Given the description of an element on the screen output the (x, y) to click on. 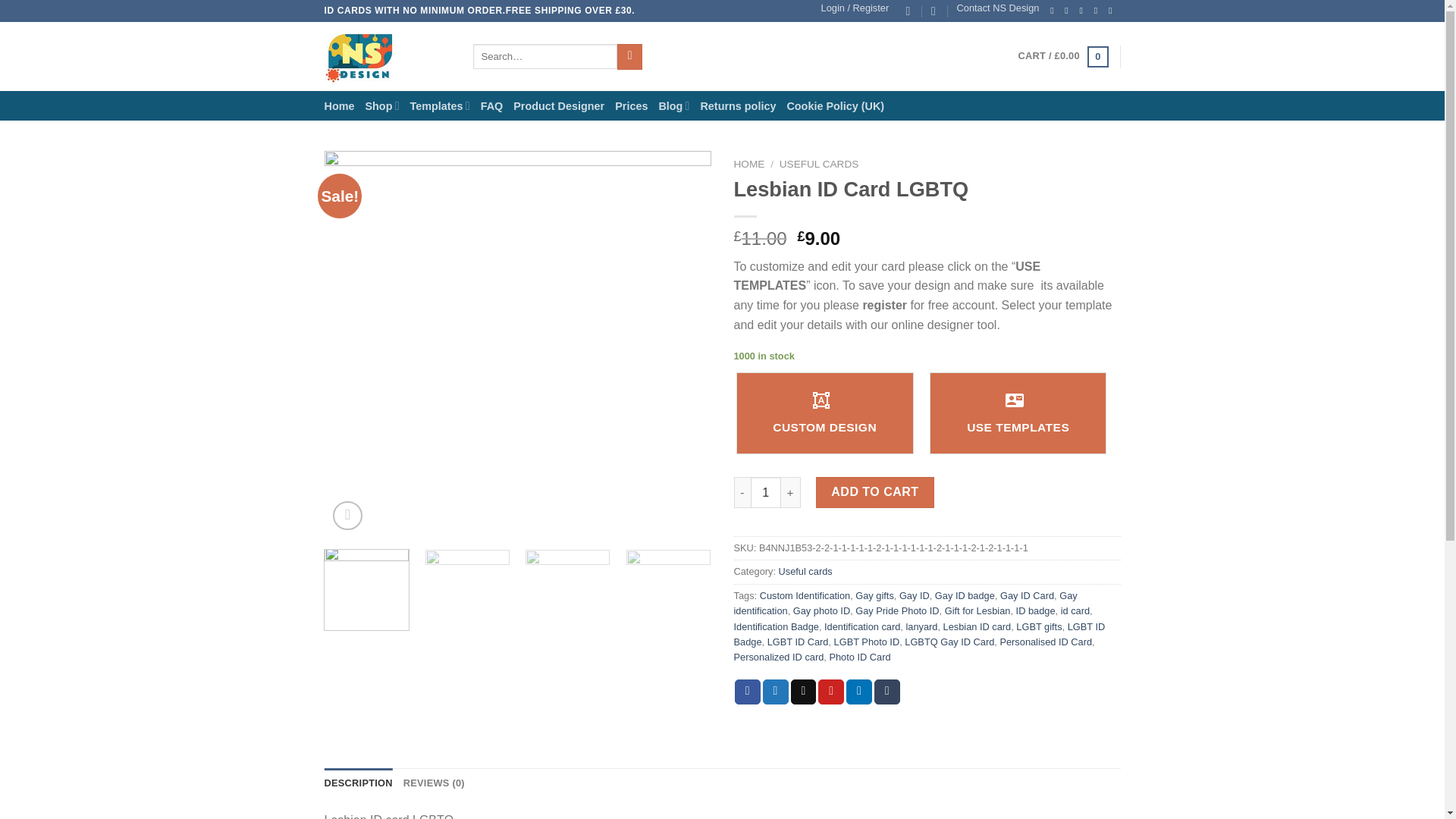
Search (629, 56)
Home (339, 105)
Templates (438, 105)
Shop (381, 105)
Cart (1062, 56)
1 (765, 491)
Zoom (347, 515)
Contact NS Design (997, 8)
Product Designer (558, 105)
